Given the description of an element on the screen output the (x, y) to click on. 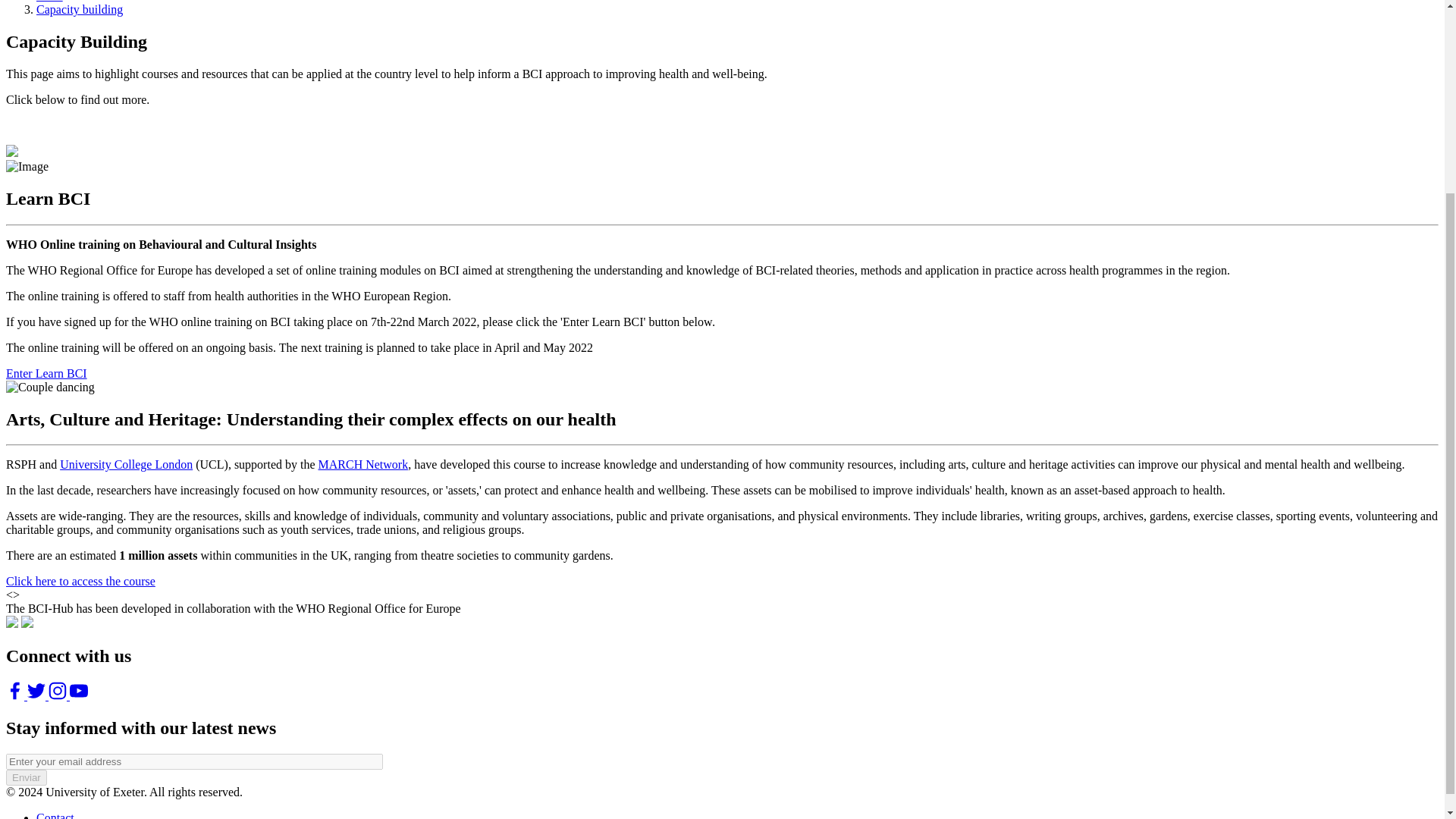
Enter Learn BCI (46, 373)
Enviar (25, 777)
YouTube (78, 695)
Capacity building (79, 9)
MARCH Network (363, 463)
YouTube (58, 695)
Click here to access the course (80, 581)
University College London (125, 463)
Node (49, 1)
Twitter (37, 695)
Facebook (16, 695)
